Given the description of an element on the screen output the (x, y) to click on. 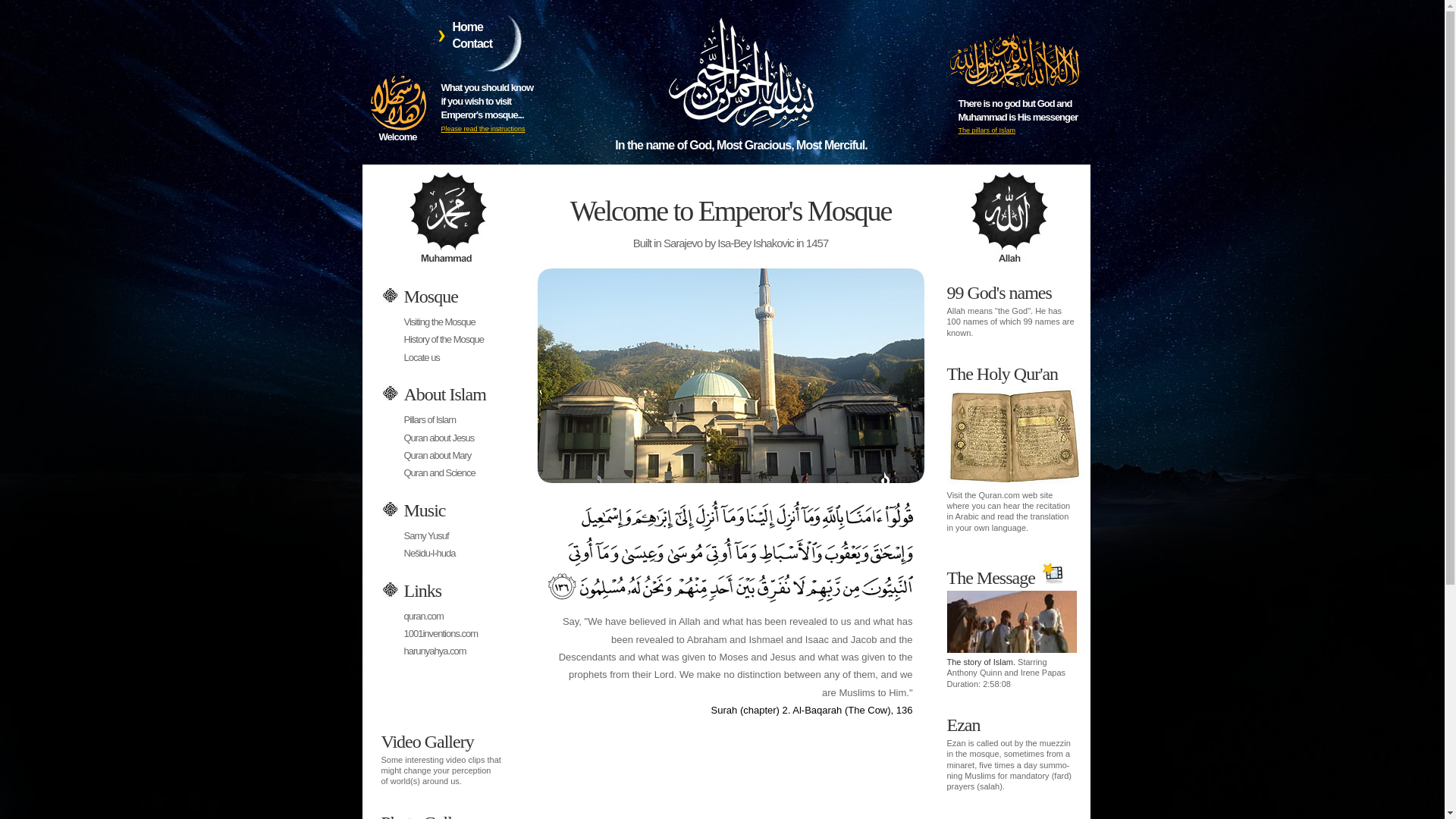
quran.com Element type: text (422, 615)
Visiting the Mosque Element type: text (438, 321)
Home Element type: text (466, 26)
harunyahya.com Element type: text (434, 650)
Samy Yusuf Element type: text (425, 535)
Please read the instructions Element type: text (483, 128)
1001inventions.com Element type: text (440, 633)
The pillars of Islam Element type: text (987, 130)
Contact Element type: text (471, 43)
Quran about Mary Element type: text (436, 455)
Quran and Science Element type: text (438, 472)
History of the Mosque Element type: text (443, 339)
Pillars of Islam Element type: text (429, 419)
Locate us Element type: text (421, 357)
Quran about Jesus Element type: text (438, 437)
